Given the description of an element on the screen output the (x, y) to click on. 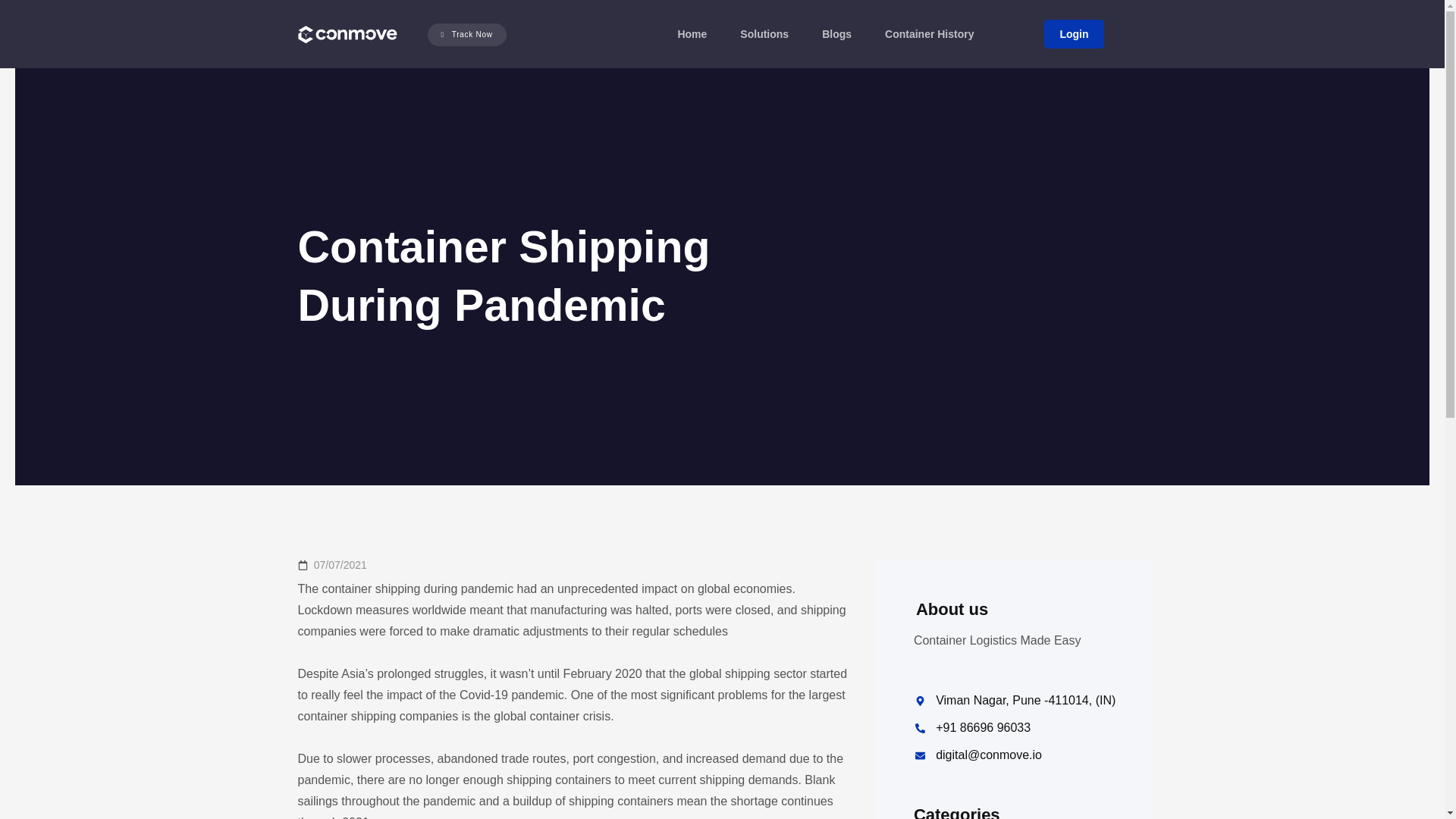
Track Now (467, 33)
Home (691, 33)
Container History (929, 33)
Solutions (764, 33)
Login (1073, 33)
Blogs (836, 33)
